Given the description of an element on the screen output the (x, y) to click on. 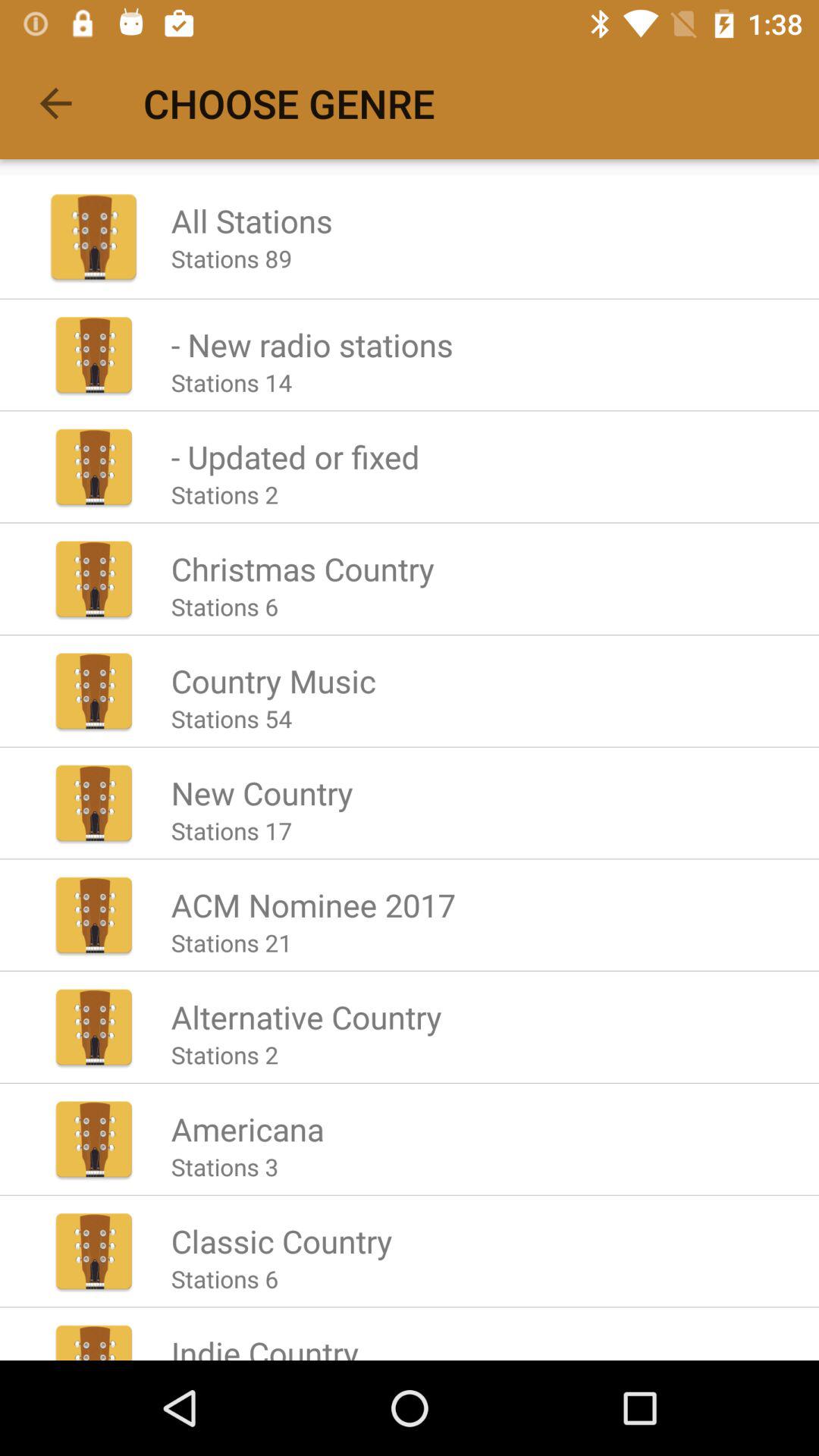
turn off the app below the - new radio stations icon (231, 382)
